Given the description of an element on the screen output the (x, y) to click on. 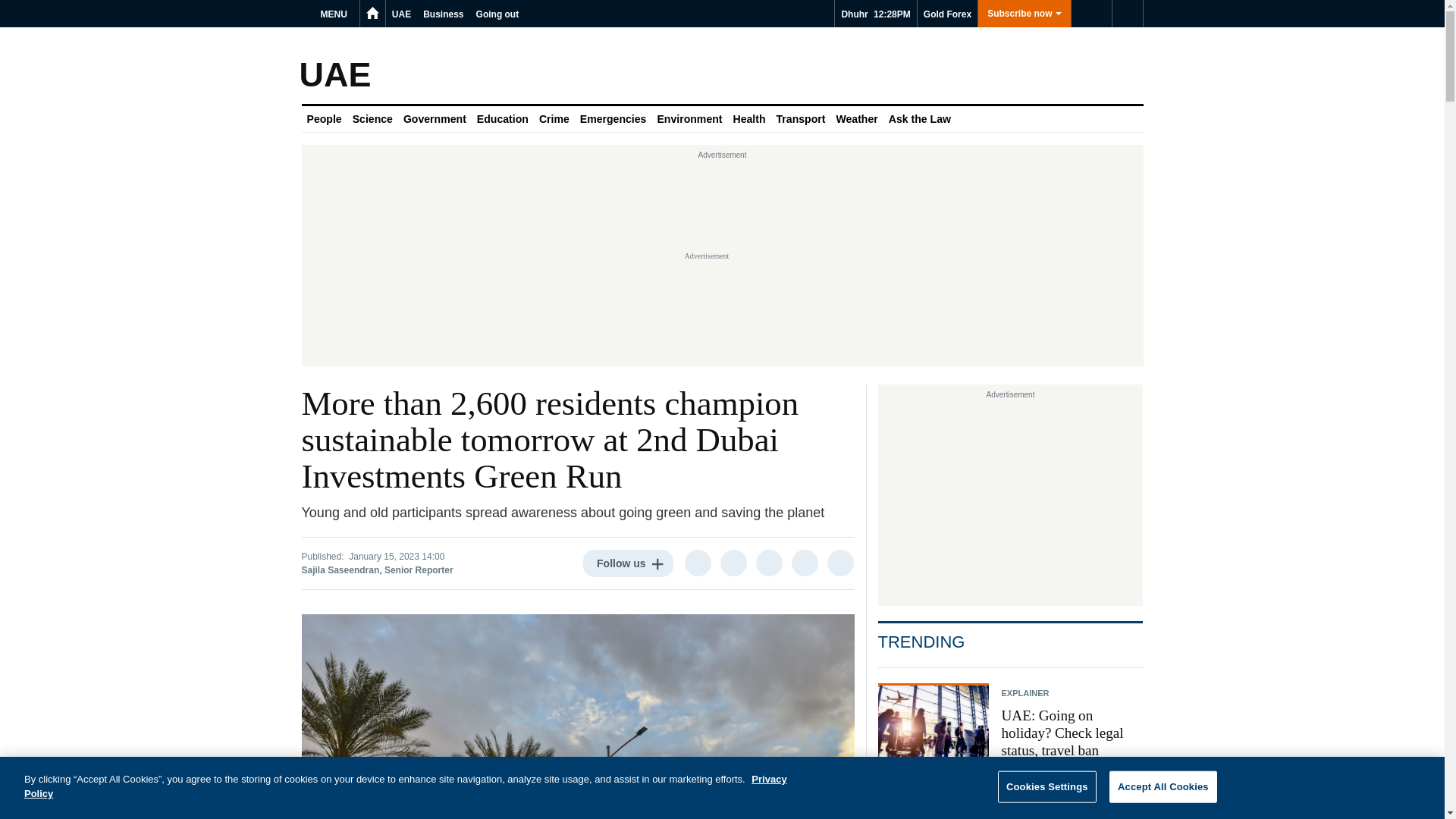
3rd party ad content (1010, 498)
Going out (497, 13)
Gold Forex (946, 13)
UAE (400, 13)
Subscribe now (1024, 13)
Dhuhr 12:28PM (874, 13)
Business (442, 13)
MENU (336, 13)
